Given the description of an element on the screen output the (x, y) to click on. 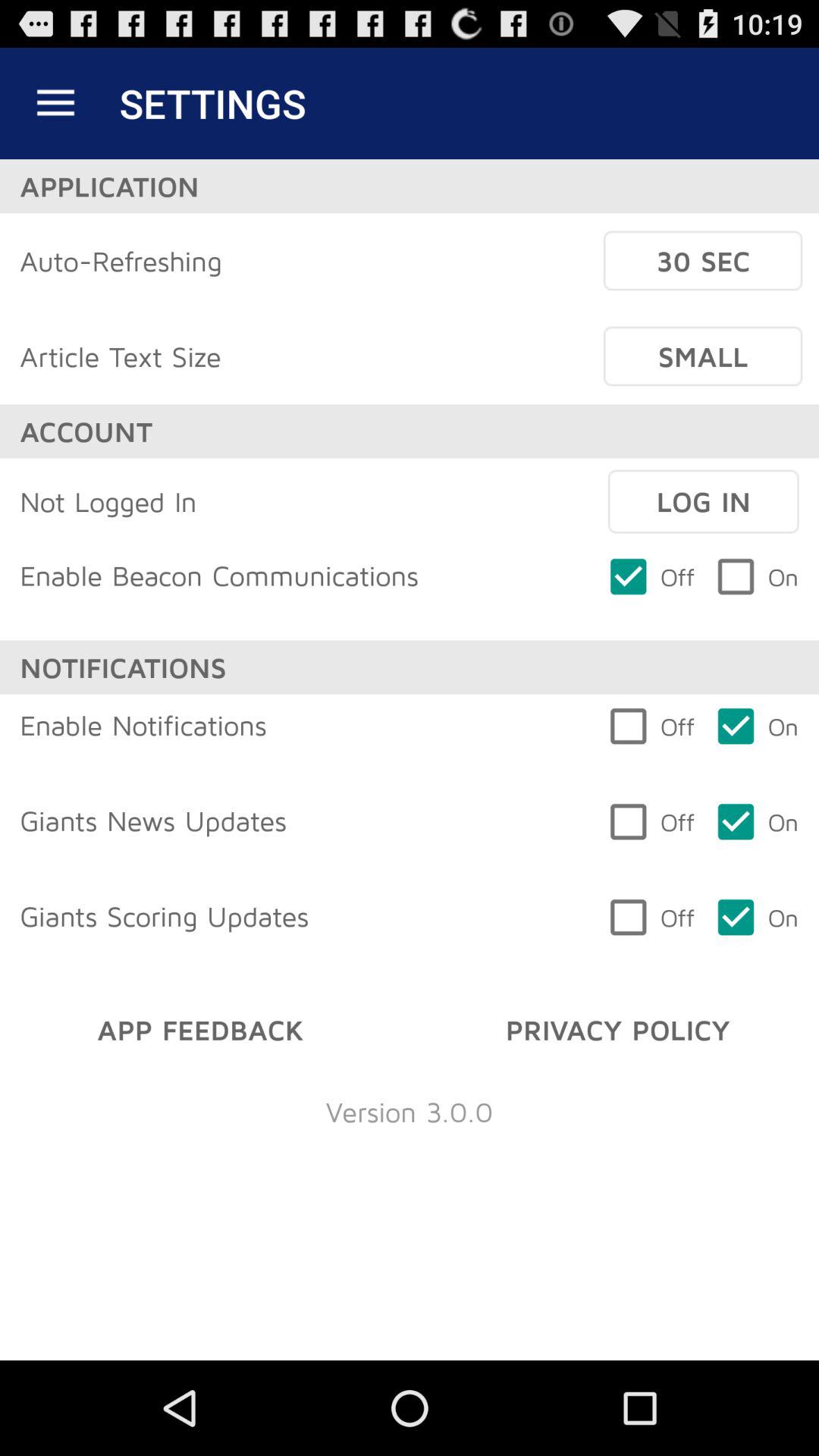
click the item below app feedback icon (409, 1111)
